Given the description of an element on the screen output the (x, y) to click on. 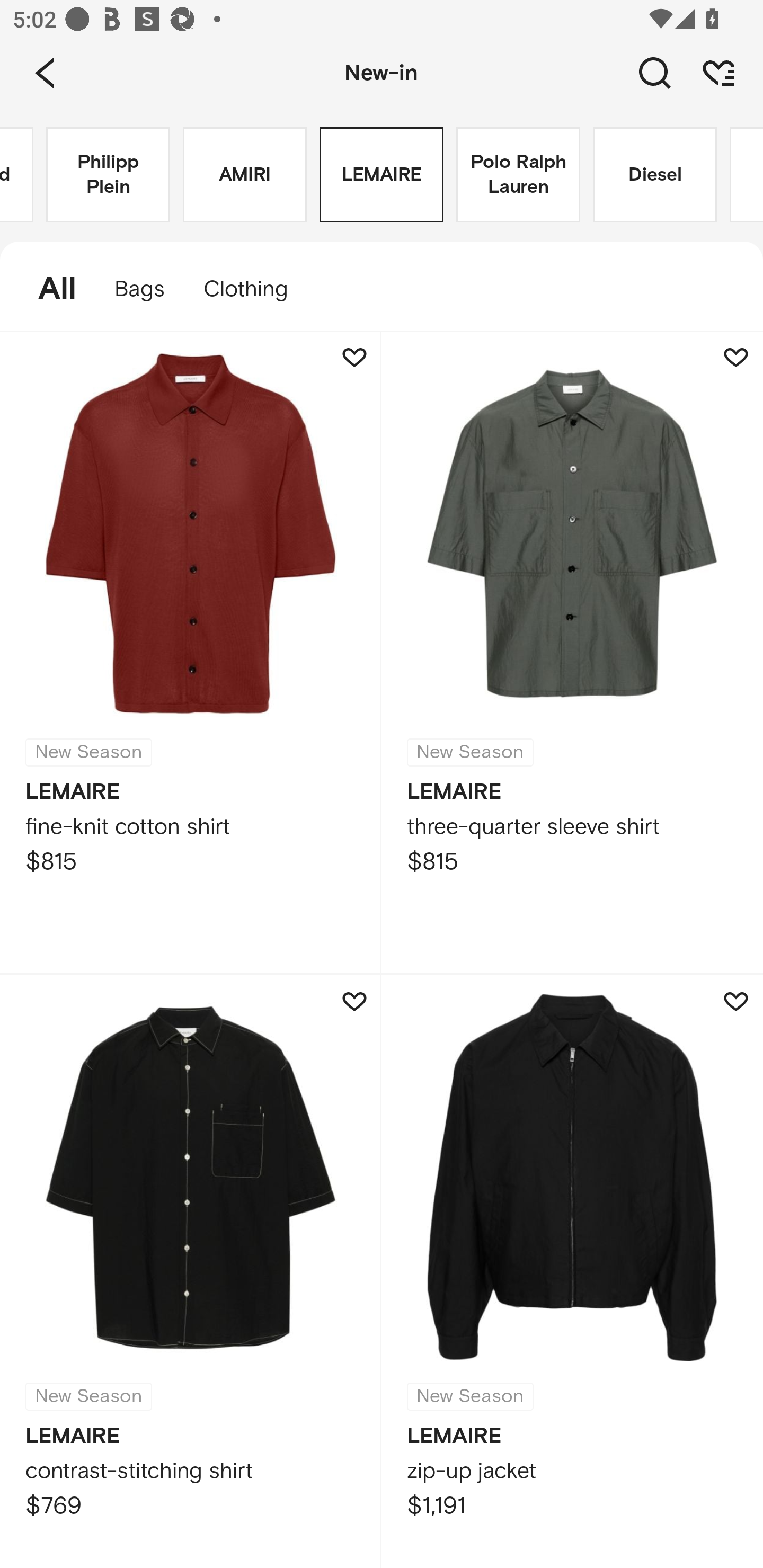
Philipp Plein (107, 174)
AMIRI (244, 174)
LEMAIRE (381, 174)
Polo Ralph Lauren (517, 174)
Diesel (654, 174)
All (47, 288)
Bags (139, 288)
Clothing (254, 288)
New Season LEMAIRE fine-knit cotton shirt $815 (190, 652)
New Season LEMAIRE three-quarter sleeve shirt $815 (572, 652)
New Season LEMAIRE contrast-stitching shirt $769 (190, 1271)
New Season LEMAIRE zip-up jacket $1,191 (572, 1271)
